Given the description of an element on the screen output the (x, y) to click on. 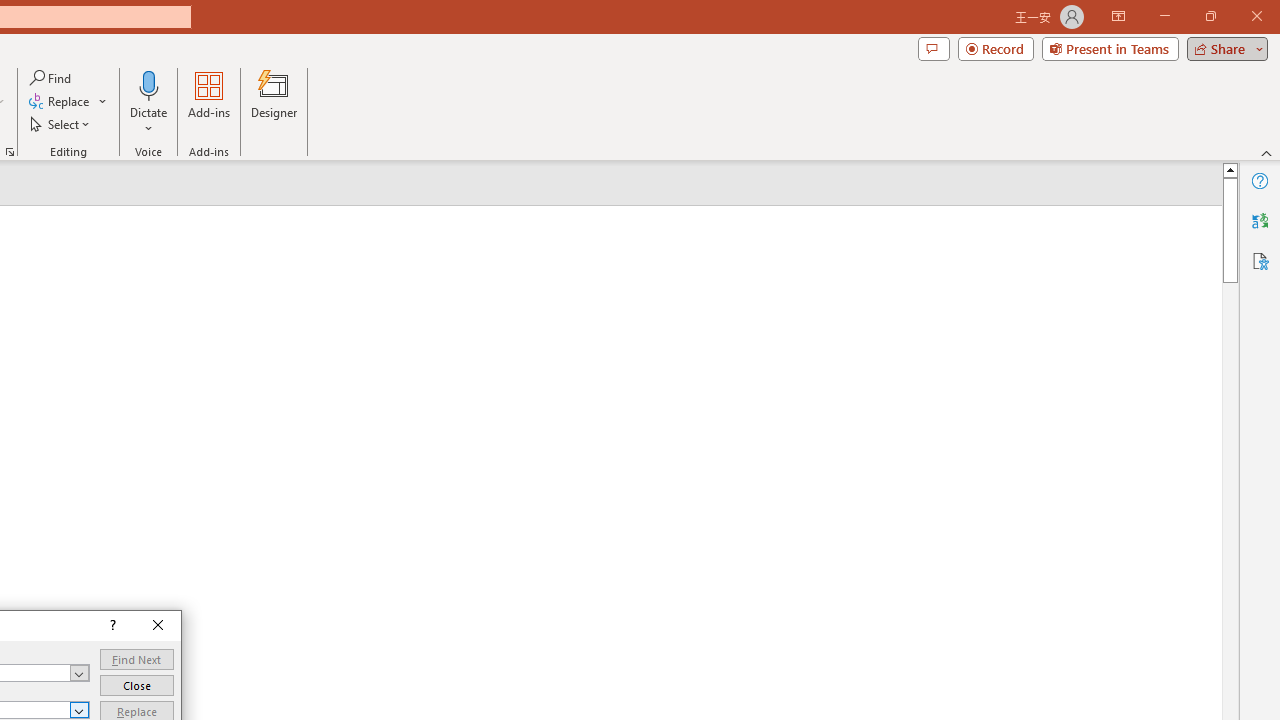
Format Object... (9, 151)
Translator (1260, 220)
Designer (274, 102)
Find Next (136, 659)
Accessibility (1260, 260)
Dictate (149, 102)
Select (61, 124)
Replace... (68, 101)
Context help (111, 625)
Line up (1230, 169)
